Given the description of an element on the screen output the (x, y) to click on. 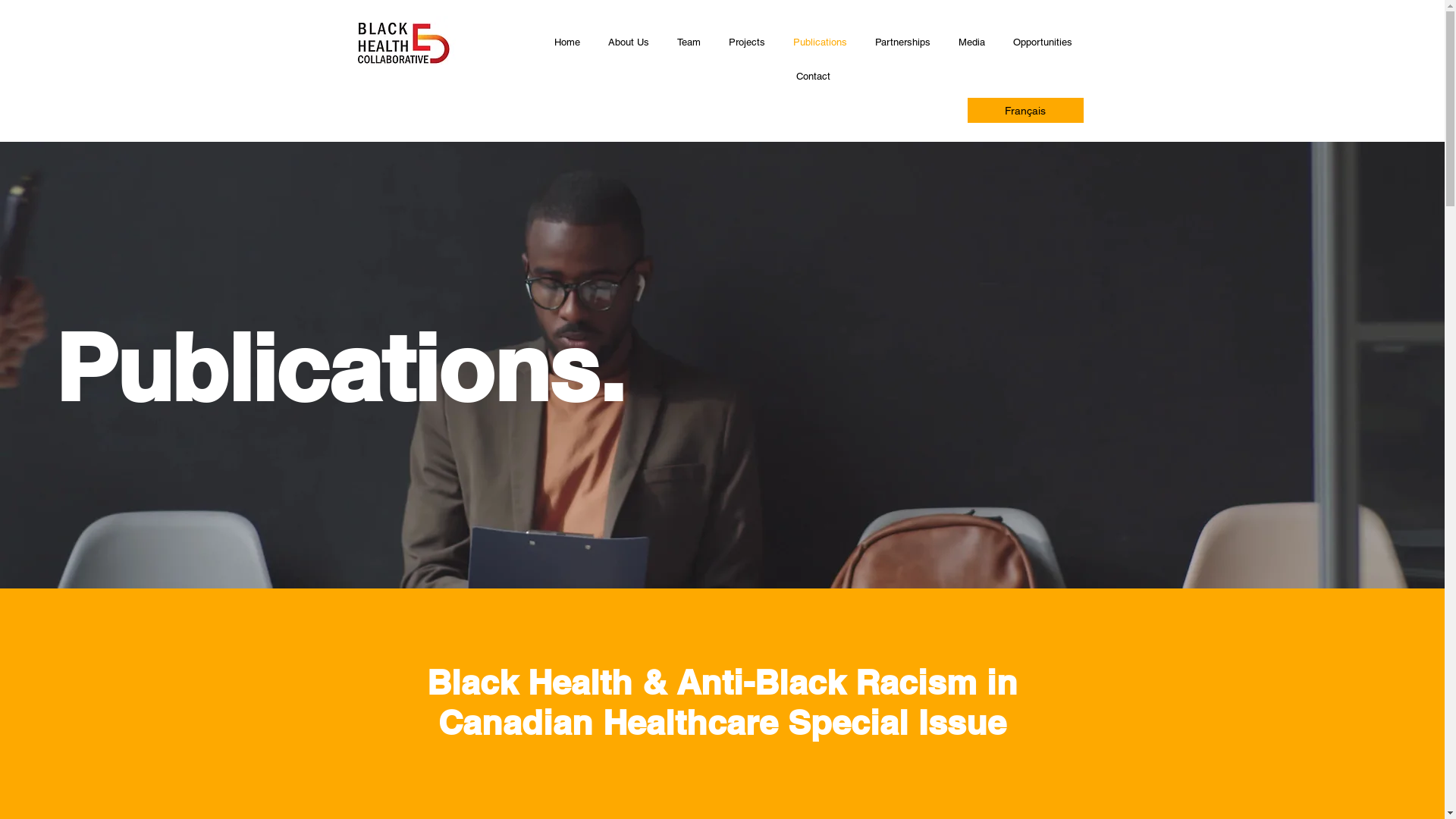
Home Element type: text (566, 42)
Team Element type: text (688, 42)
Media Element type: text (971, 42)
Opportunities Element type: text (1042, 42)
Contact Element type: text (812, 76)
Partnerships Element type: text (902, 42)
About Us Element type: text (628, 42)
Publications Element type: text (820, 42)
Projects Element type: text (746, 42)
